Given the description of an element on the screen output the (x, y) to click on. 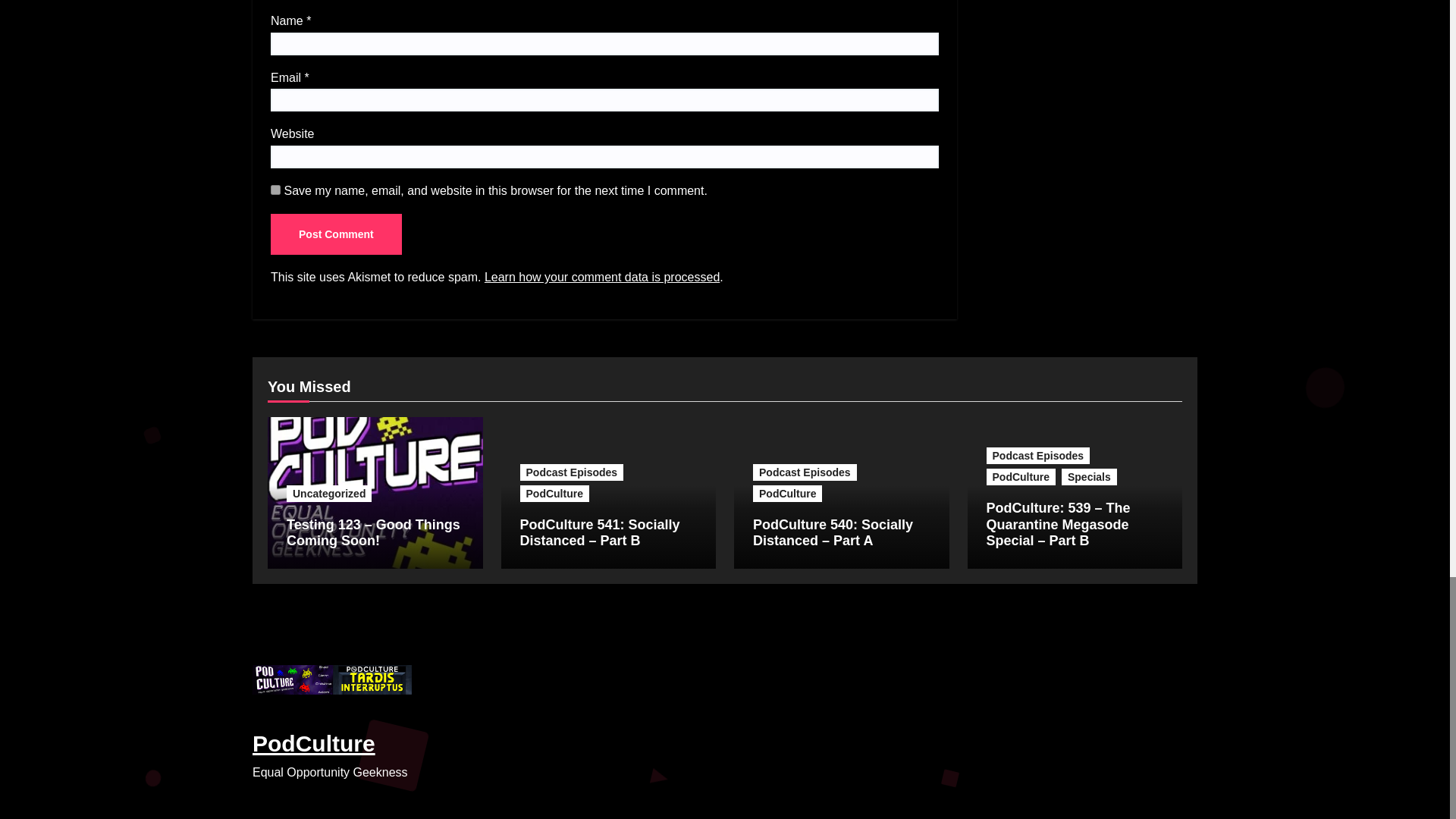
Post Comment (335, 233)
yes (275, 189)
